Given the description of an element on the screen output the (x, y) to click on. 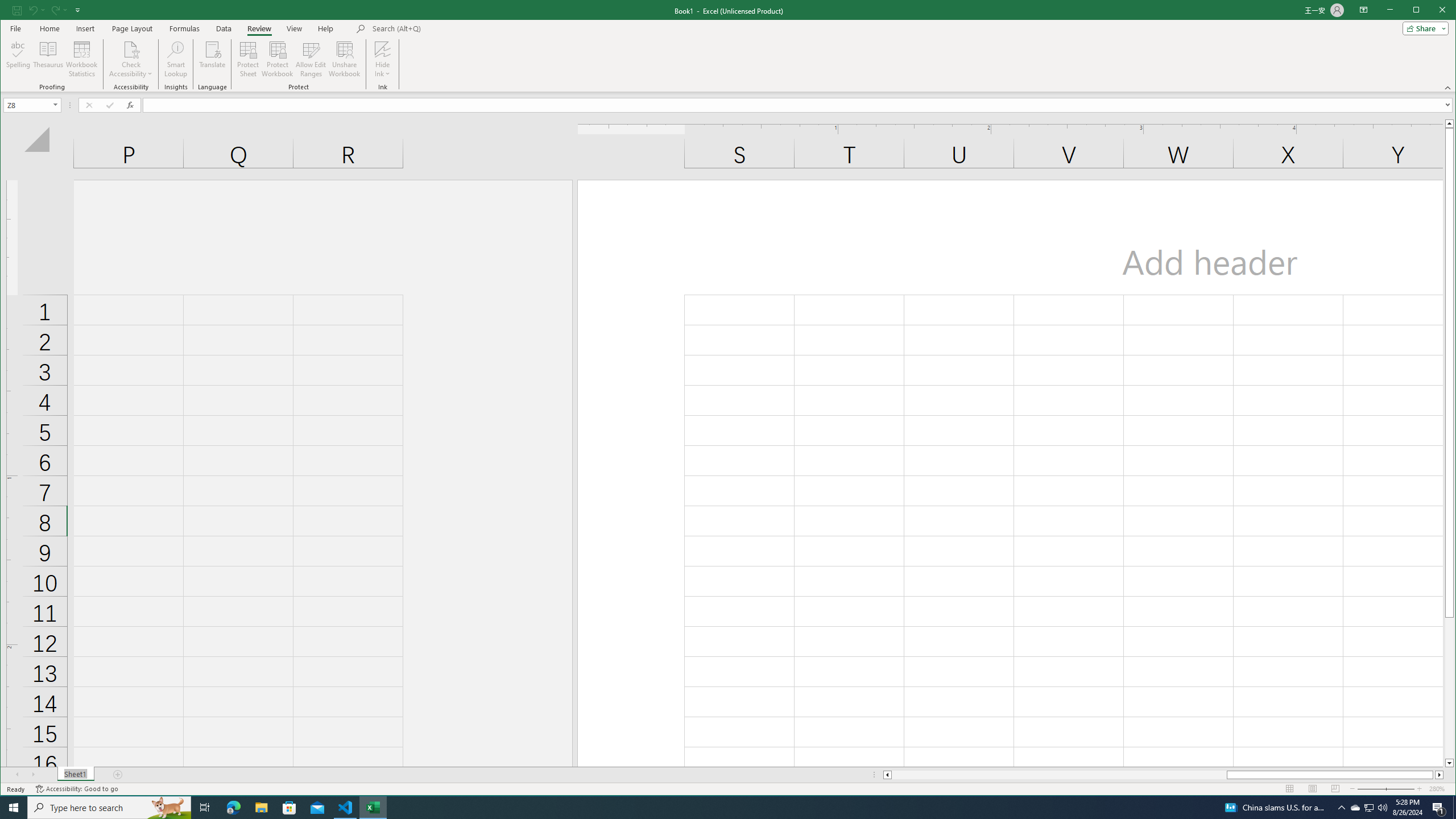
Smart Lookup (176, 59)
Start (13, 807)
Search highlights icon opens search home window (167, 807)
Unshare Workbook (344, 59)
Show desktop (1454, 807)
Sheet Tab (75, 774)
